Given the description of an element on the screen output the (x, y) to click on. 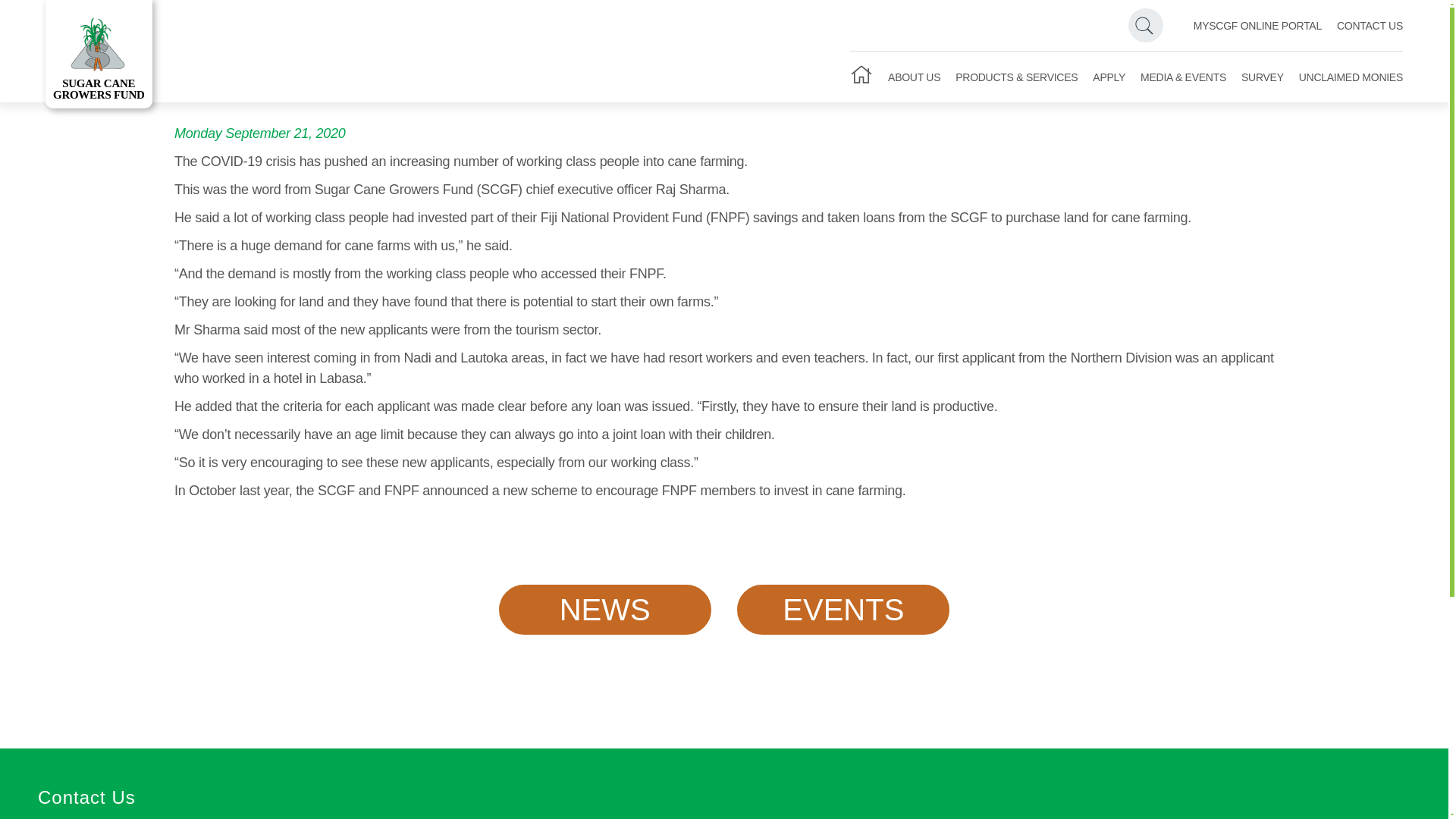
ABOUT US (914, 75)
search (1145, 25)
CONTACT US (1369, 26)
MYSCGF ONLINE PORTAL (98, 54)
